Given the description of an element on the screen output the (x, y) to click on. 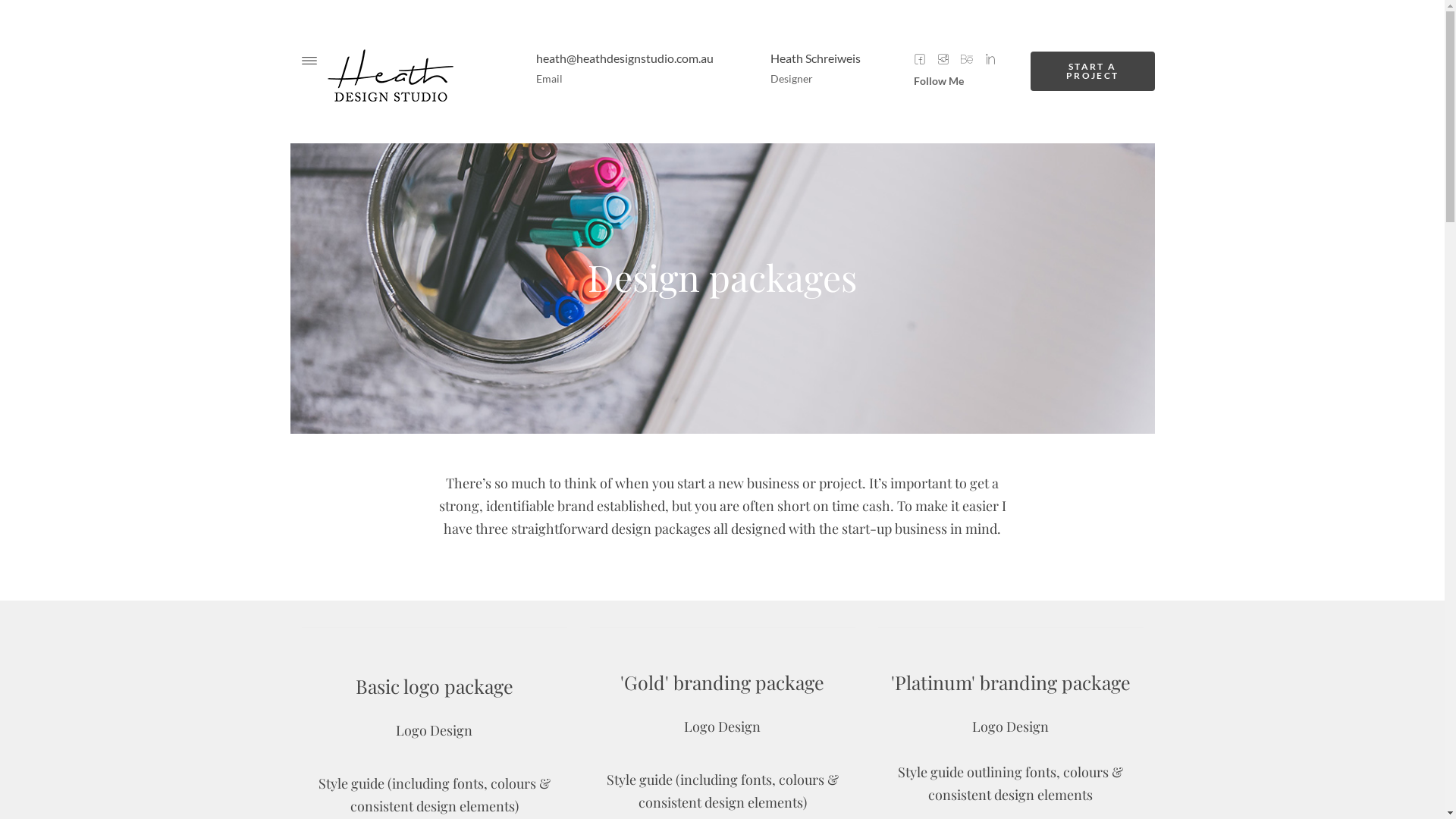
START A PROJECT Element type: text (1092, 71)
